Given the description of an element on the screen output the (x, y) to click on. 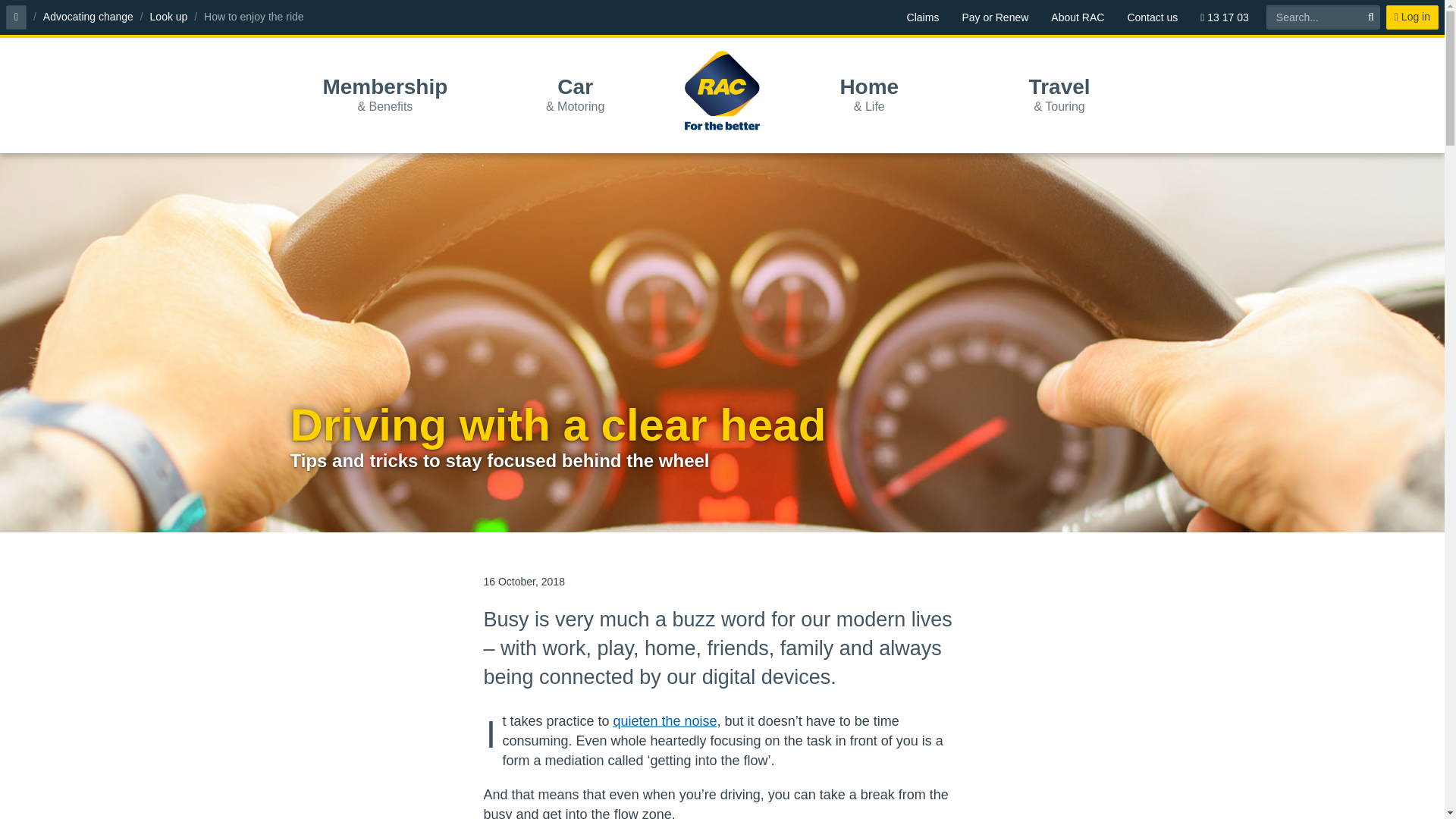
Contact us (1152, 17)
About RAC (1077, 17)
Pay or Renew (994, 17)
Advocating change (88, 16)
Claims (922, 17)
RAC - For the better (721, 90)
 Log in (1412, 16)
 13 17 03 (1224, 17)
Look up (168, 16)
